Given the description of an element on the screen output the (x, y) to click on. 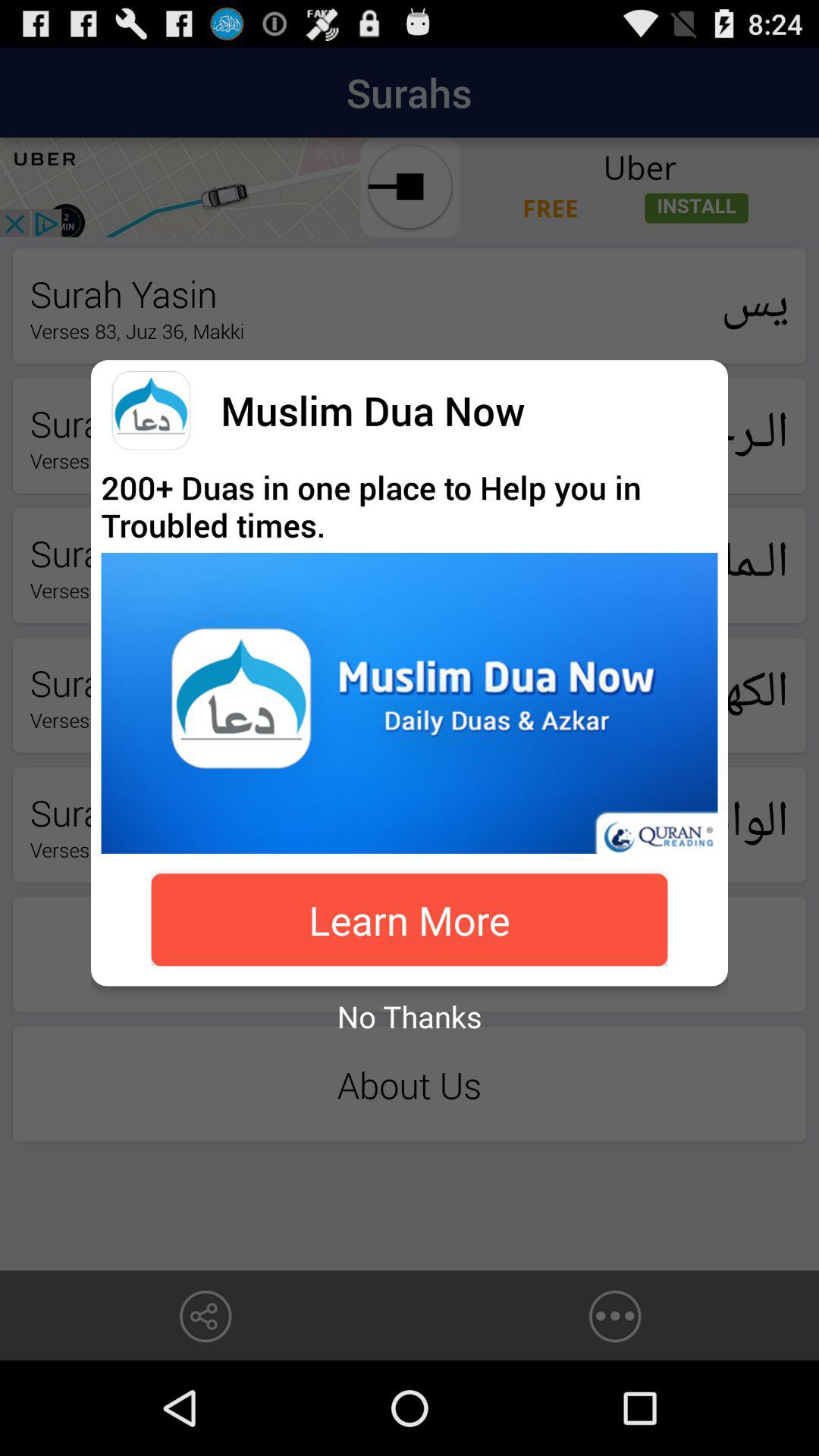
choose no thanks icon (409, 1016)
